Given the description of an element on the screen output the (x, y) to click on. 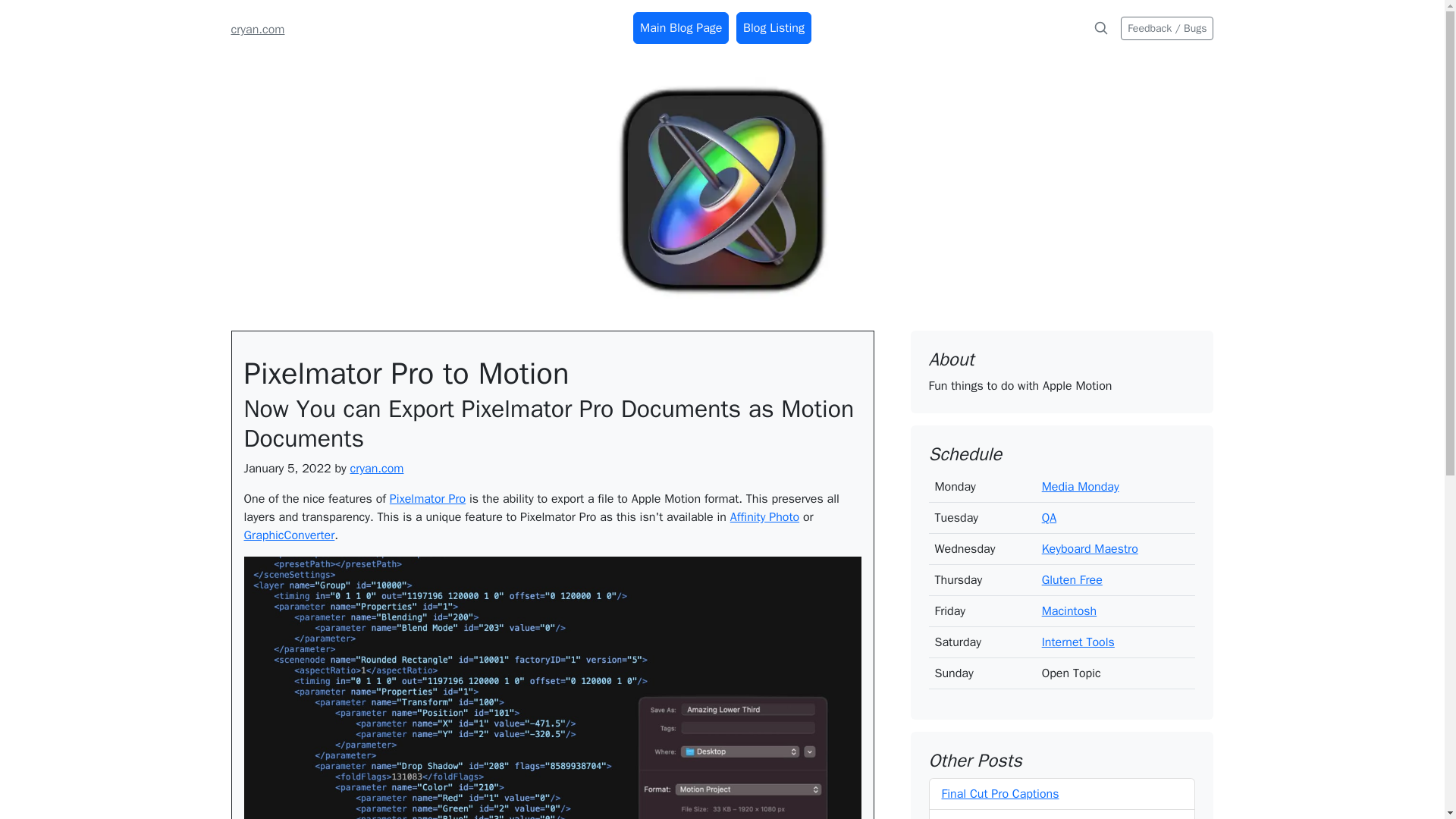
Keyboard Maestro (1090, 548)
Media Monday (1080, 486)
Blog Listing (773, 28)
Main Blog Page (681, 28)
Affinity Photo (764, 516)
Final Cut Pro Captions (1000, 793)
Macintosh (1069, 611)
Search (1101, 28)
Gluten Free (1072, 580)
Pixelmator Pro (427, 498)
Search (1100, 28)
cryan.com (256, 29)
Internet Tools (1078, 642)
GraphicConverter (289, 534)
Apple Motion Gradients (1003, 818)
